Given the description of an element on the screen output the (x, y) to click on. 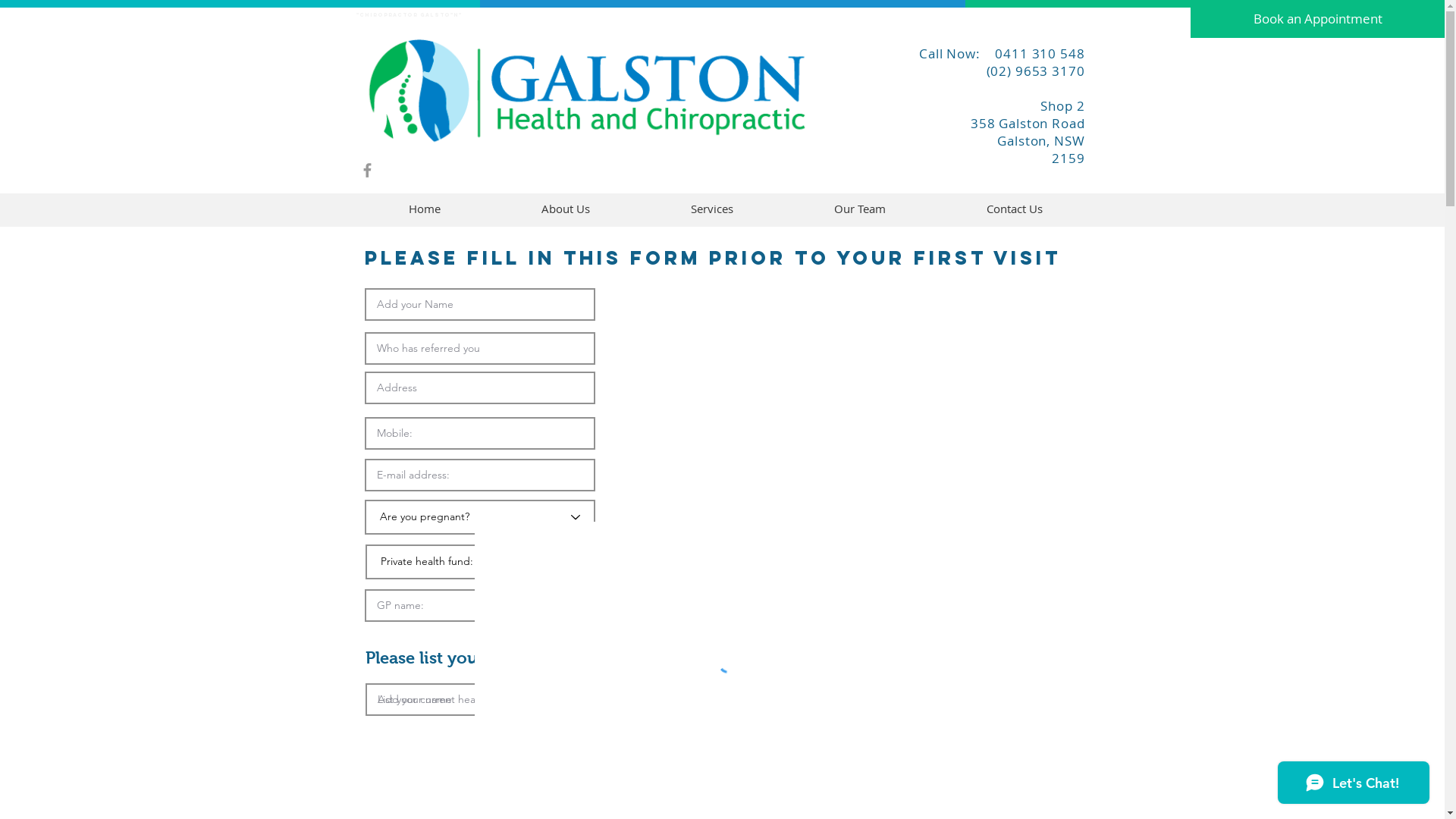
Book an Appointment Element type: text (1317, 18)
Home Element type: text (424, 208)
Our Team Element type: text (860, 208)
Services Element type: text (711, 208)
123 Form Builder & Payments Element type: hover (722, 655)
About Us Element type: text (565, 208)
Contact Us Element type: text (1013, 208)
    Call Now:    0411 310 548 Element type: text (994, 53)
